Given the description of an element on the screen output the (x, y) to click on. 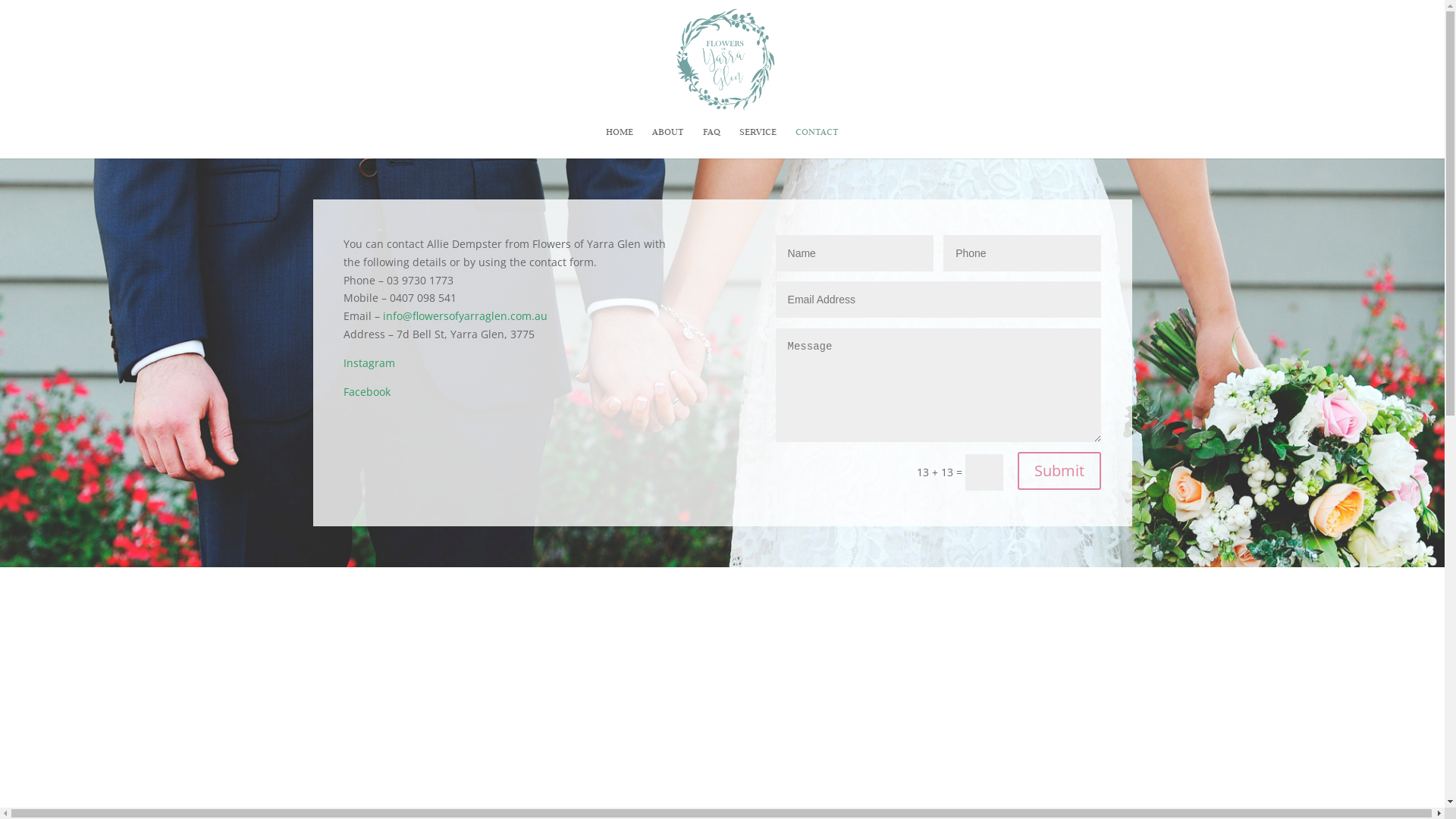
FAQ Element type: text (711, 141)
SERVICE Element type: text (757, 141)
CONTACT Element type: text (816, 141)
Facebook Element type: text (365, 391)
Instagram Element type: text (368, 362)
ABOUT Element type: text (668, 141)
info@flowersofyarraglen.com.au Element type: text (464, 315)
HOME Element type: text (619, 141)
Submit Element type: text (1059, 470)
